Given the description of an element on the screen output the (x, y) to click on. 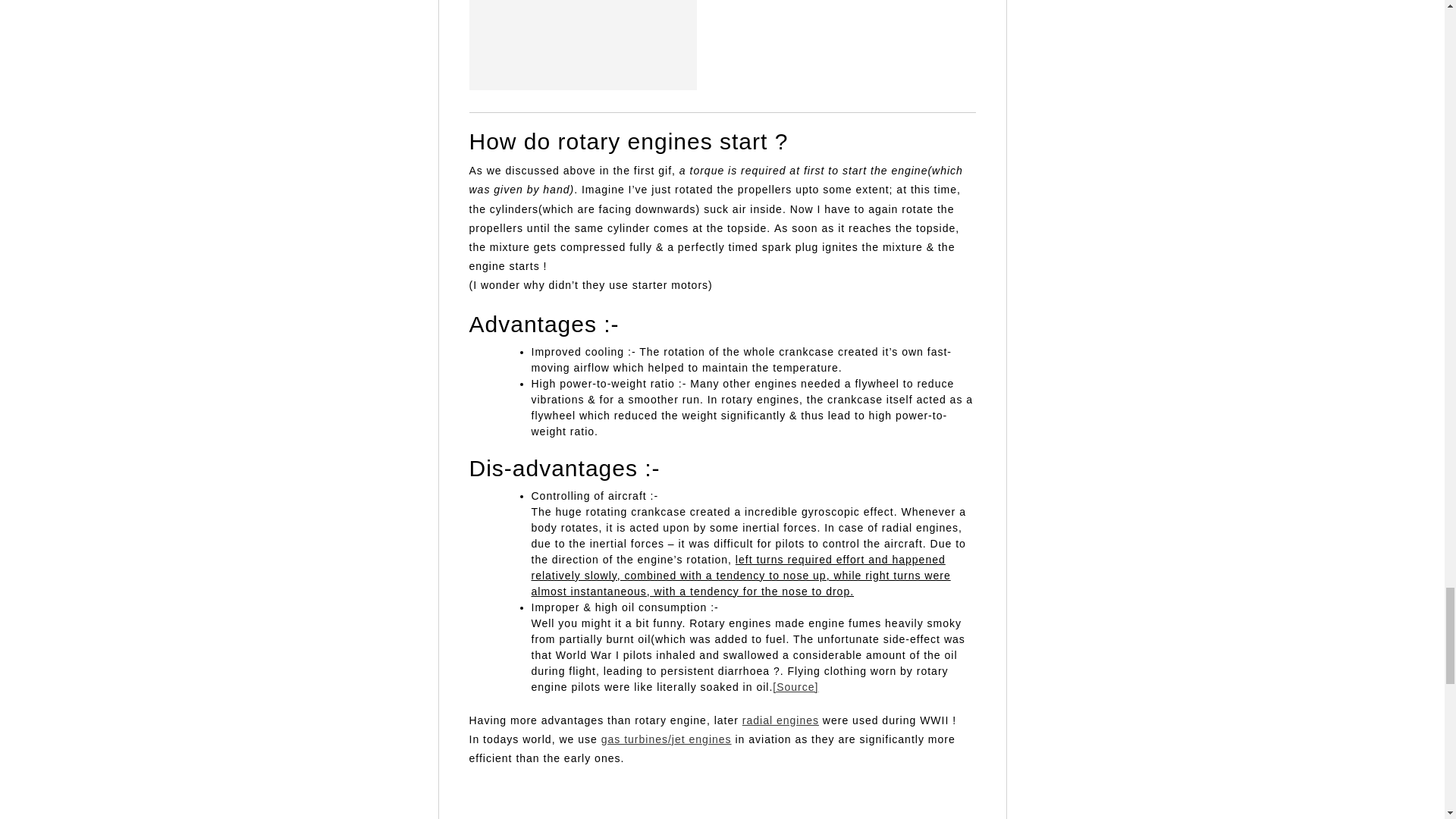
radial engines (780, 720)
